Given the description of an element on the screen output the (x, y) to click on. 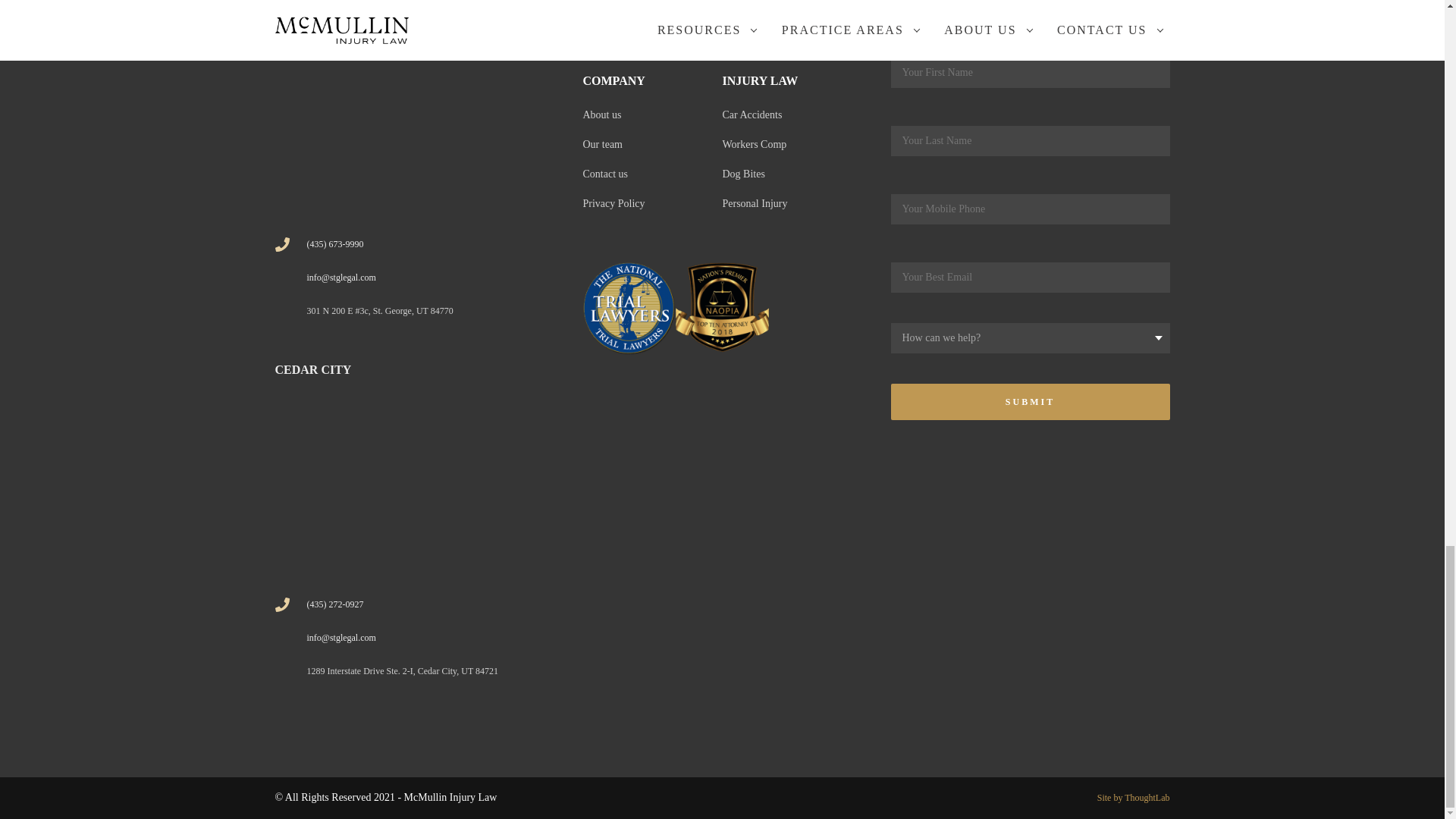
Site by ThoughtLab (1133, 797)
linkedin (598, 797)
Submit (1029, 402)
youtube (642, 797)
Facebook (555, 797)
